Given the description of an element on the screen output the (x, y) to click on. 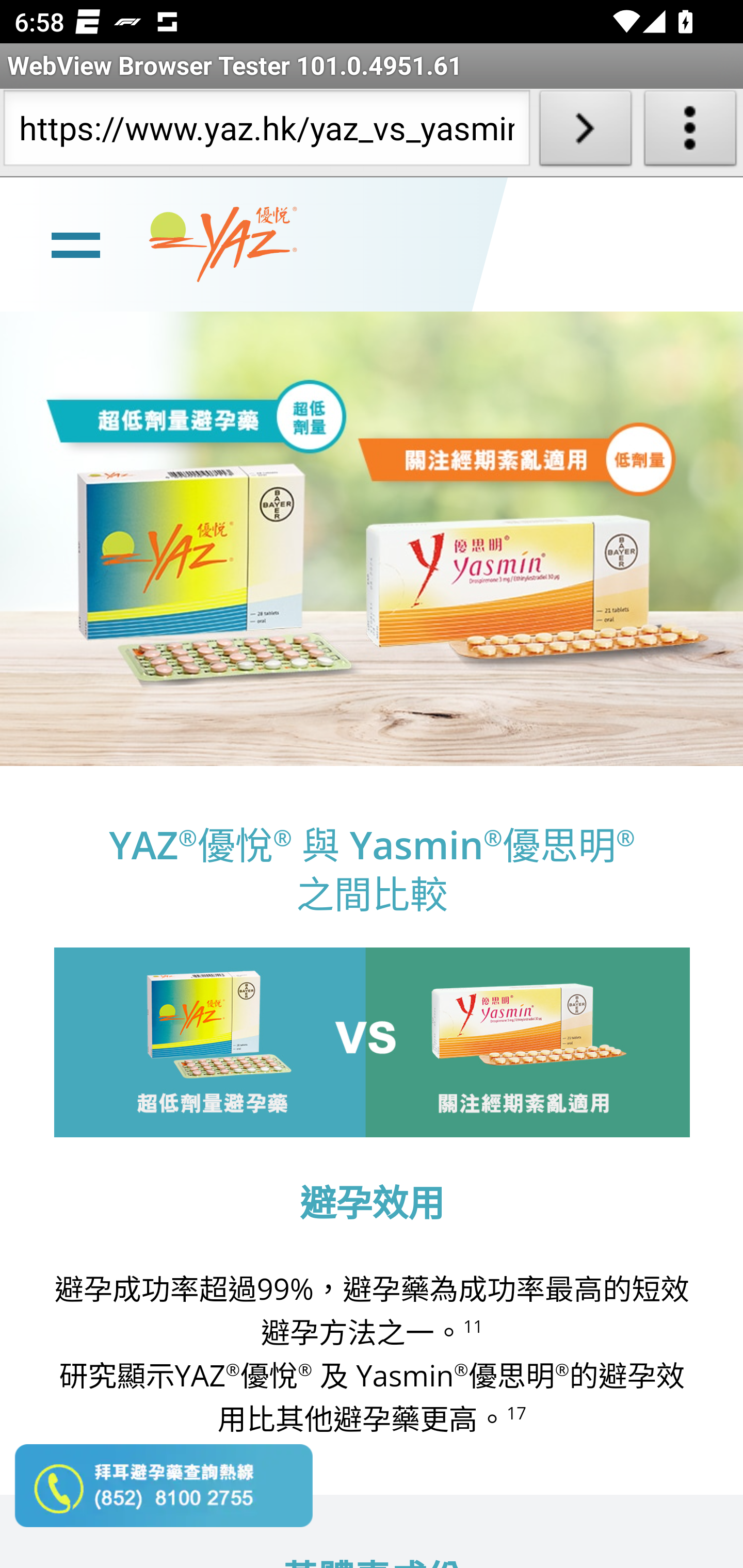
Load URL (585, 132)
About WebView (690, 132)
www.yaz (222, 244)
line Toggle burger menu (75, 242)
